Given the description of an element on the screen output the (x, y) to click on. 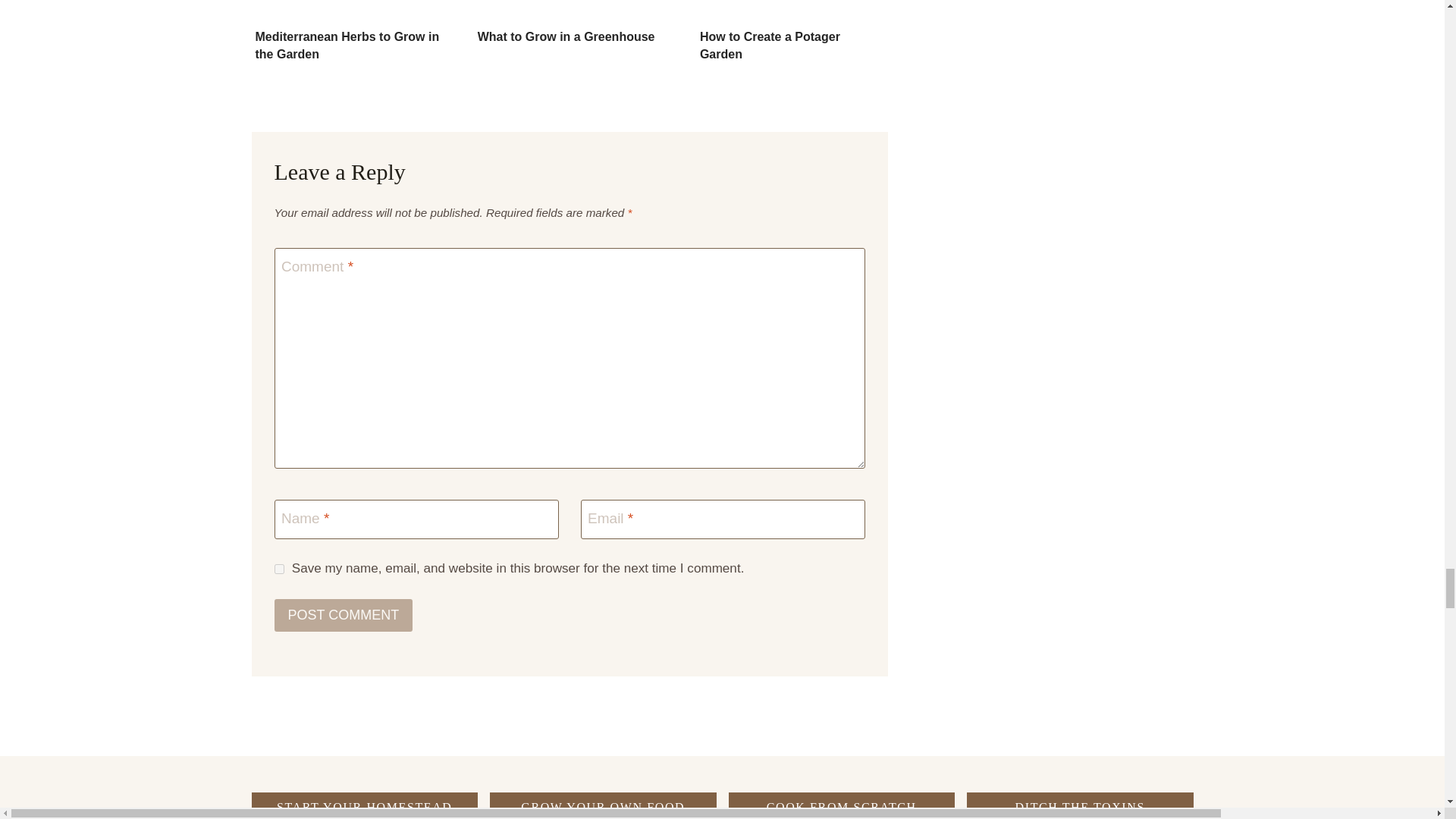
yes (279, 569)
Post Comment (344, 614)
